Given the description of an element on the screen output the (x, y) to click on. 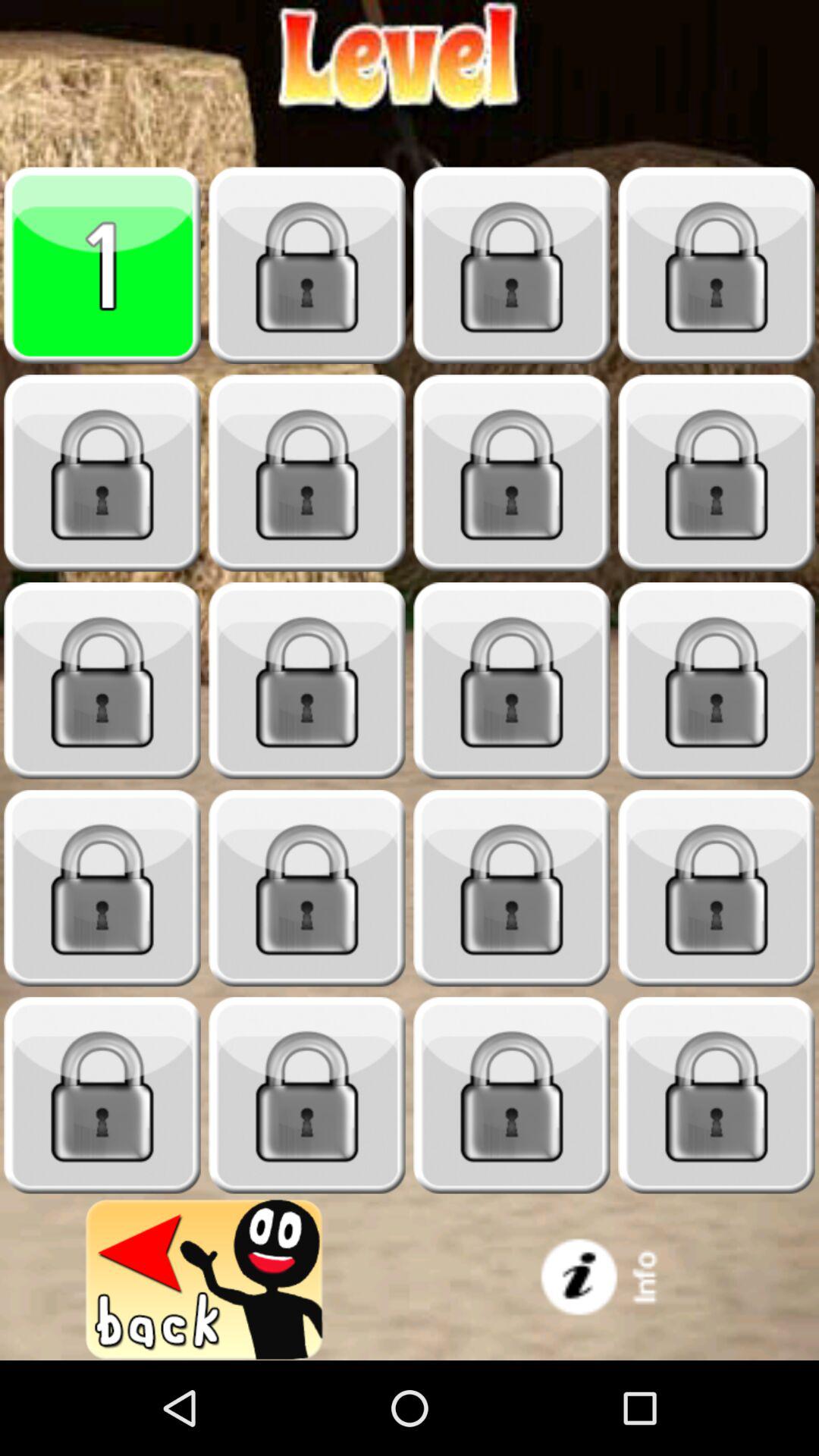
lock choose app (306, 473)
